Given the description of an element on the screen output the (x, y) to click on. 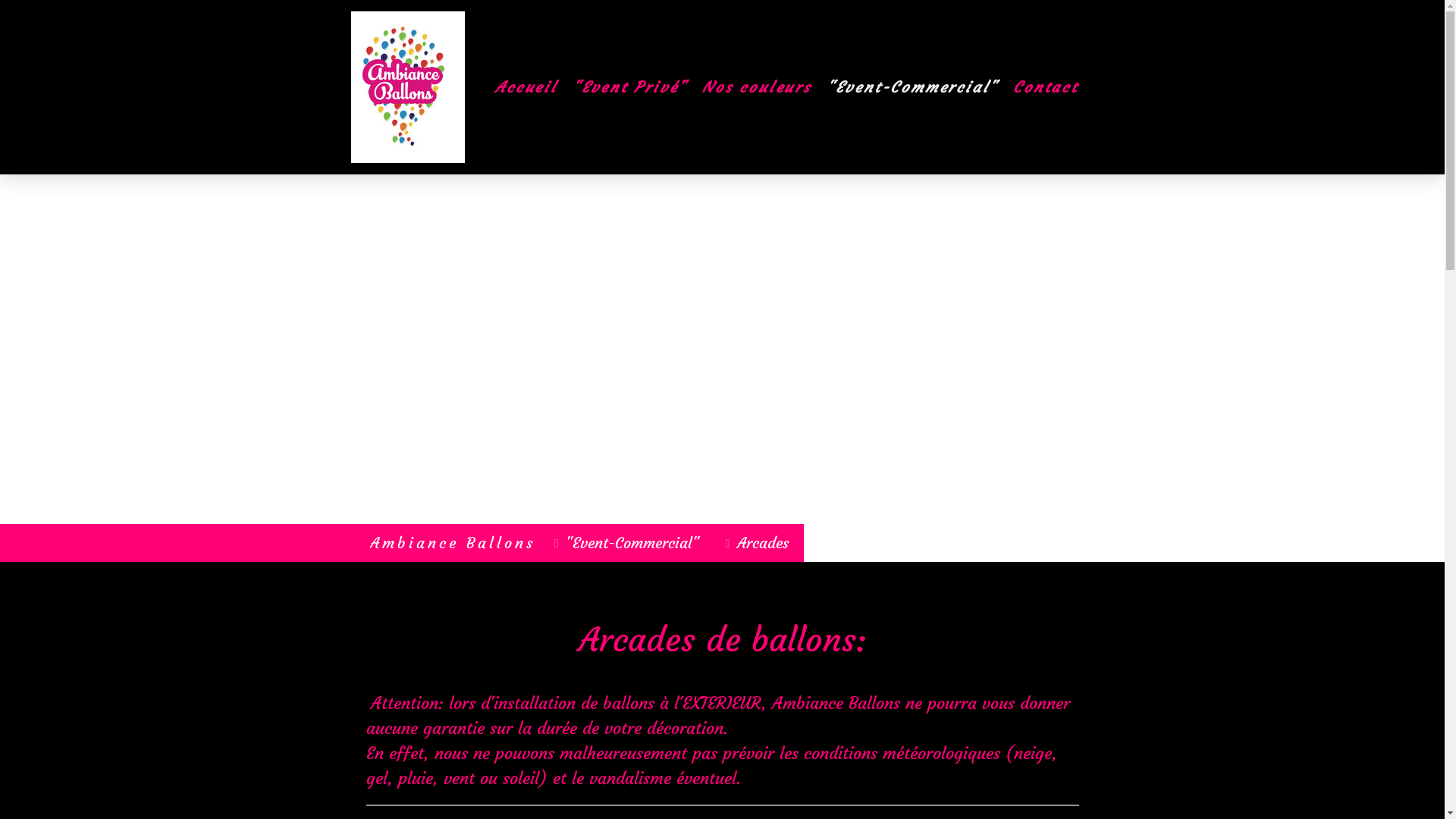
Arcades Element type: text (758, 542)
Accueil Element type: text (525, 87)
"Event-Commercial" Element type: text (912, 87)
"Event-Commercial" Element type: text (628, 542)
Nos couleurs Element type: text (756, 87)
Ambiance Ballons Element type: text (452, 542)
Contact Element type: text (1045, 87)
